Given the description of an element on the screen output the (x, y) to click on. 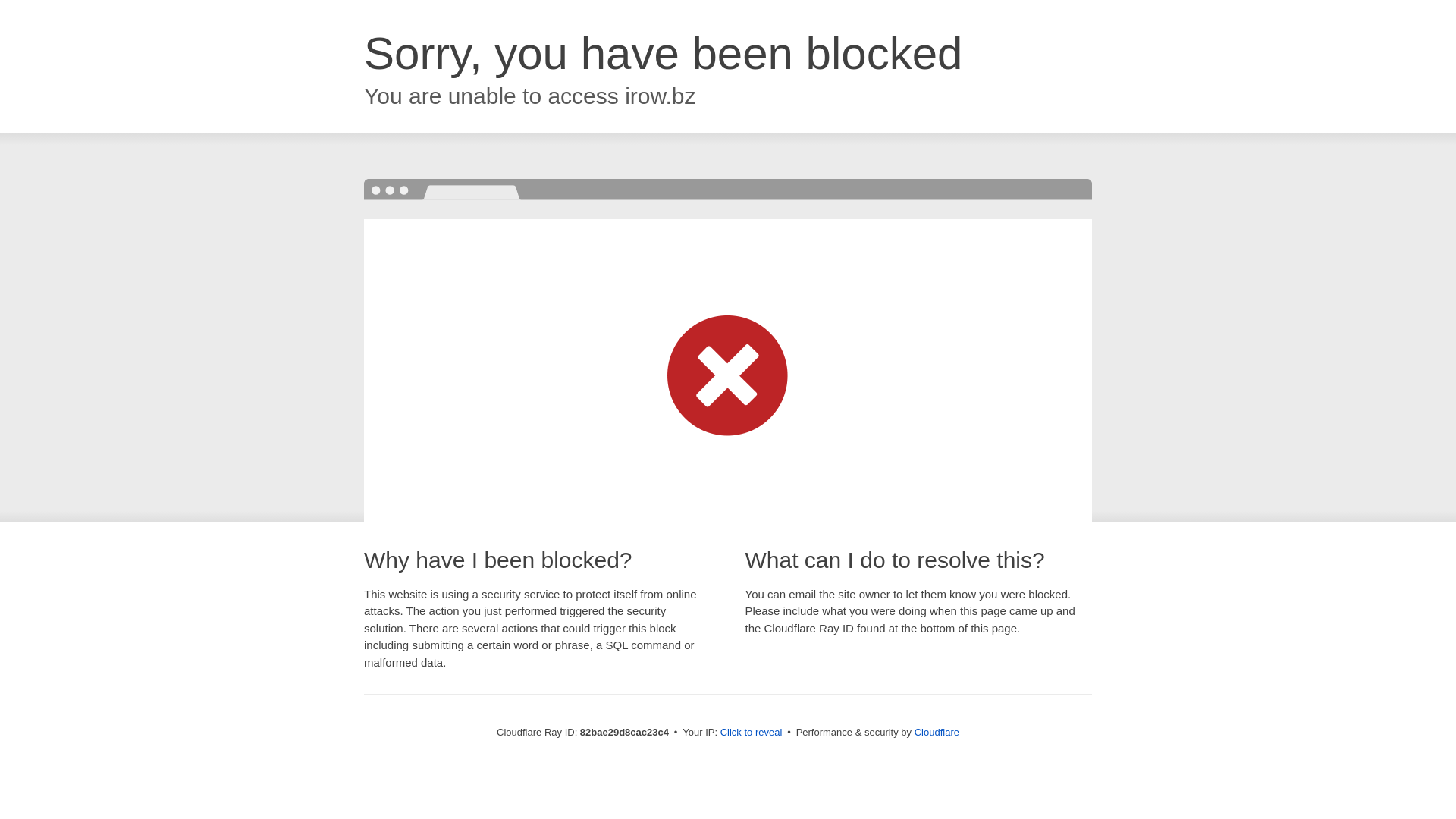
Click to reveal Element type: text (751, 732)
Cloudflare Element type: text (936, 731)
